Given the description of an element on the screen output the (x, y) to click on. 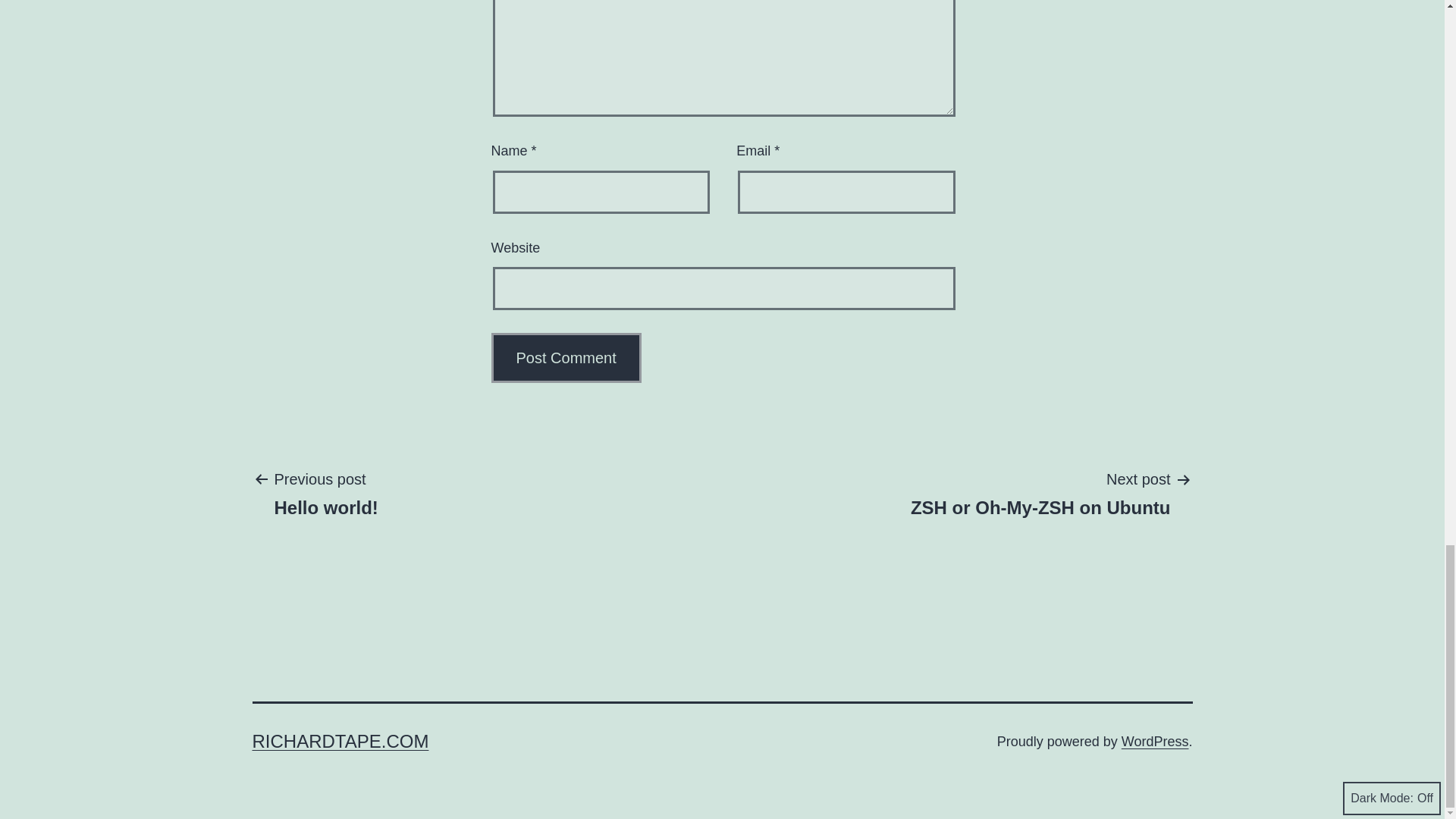
WordPress (1155, 741)
RICHARDTAPE.COM (1040, 492)
Post Comment (339, 741)
Post Comment (567, 357)
